Given the description of an element on the screen output the (x, y) to click on. 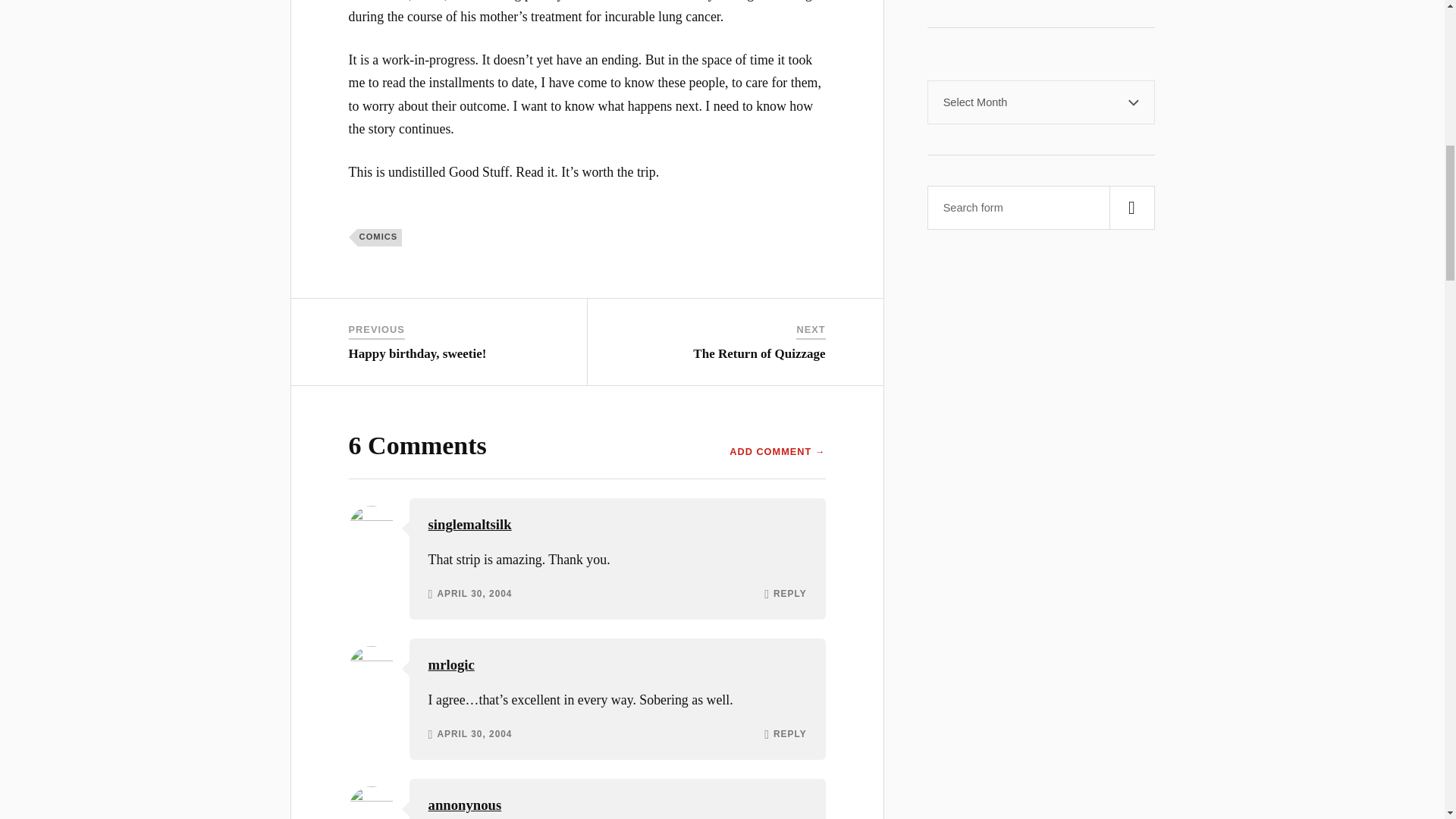
APRIL 30, 2004 (474, 734)
APRIL 30, 2004 (474, 593)
annonynous (465, 804)
COMICS (379, 237)
Happy birthday, sweetie! (417, 353)
singlemaltsilk (470, 524)
mrlogic (451, 664)
REPLY (789, 593)
The Return of Quizzage (759, 353)
REPLY (789, 734)
